Given the description of an element on the screen output the (x, y) to click on. 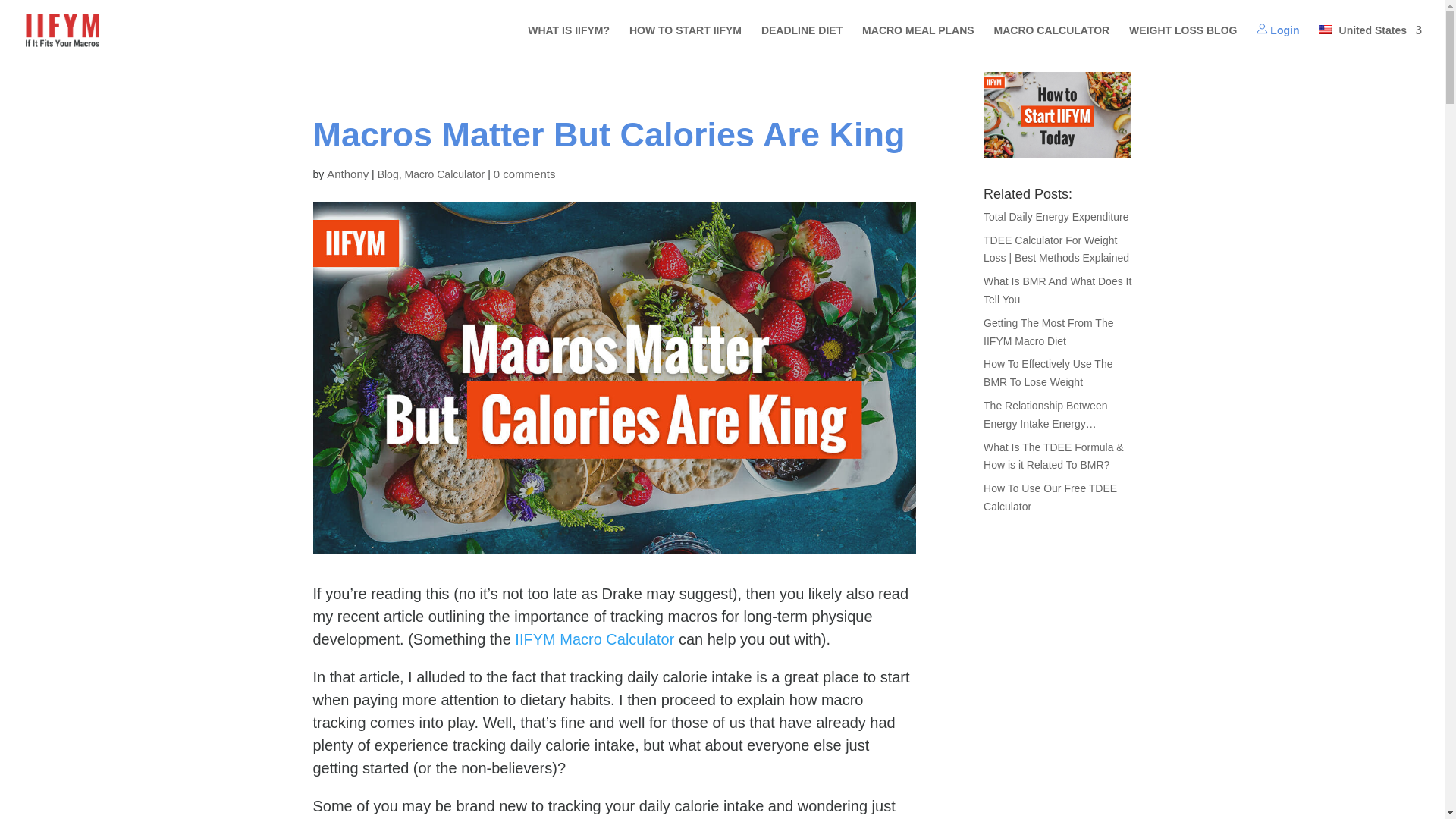
MACRO MEAL PLANS (917, 42)
Blog (387, 174)
WEIGHT LOSS BLOG (1182, 42)
DEADLINE DIET (802, 42)
0 comments (524, 173)
Total Daily Energy Expenditure (1056, 216)
Macro Calculator (444, 174)
MACRO CALCULATOR (1051, 42)
IIFYM Macro Calculator (594, 638)
WHAT IS IIFYM? (568, 42)
Anthony (347, 173)
United States (1370, 42)
HOW TO START IIFYM (684, 42)
United States (1370, 42)
Posts by Anthony (347, 173)
